Given the description of an element on the screen output the (x, y) to click on. 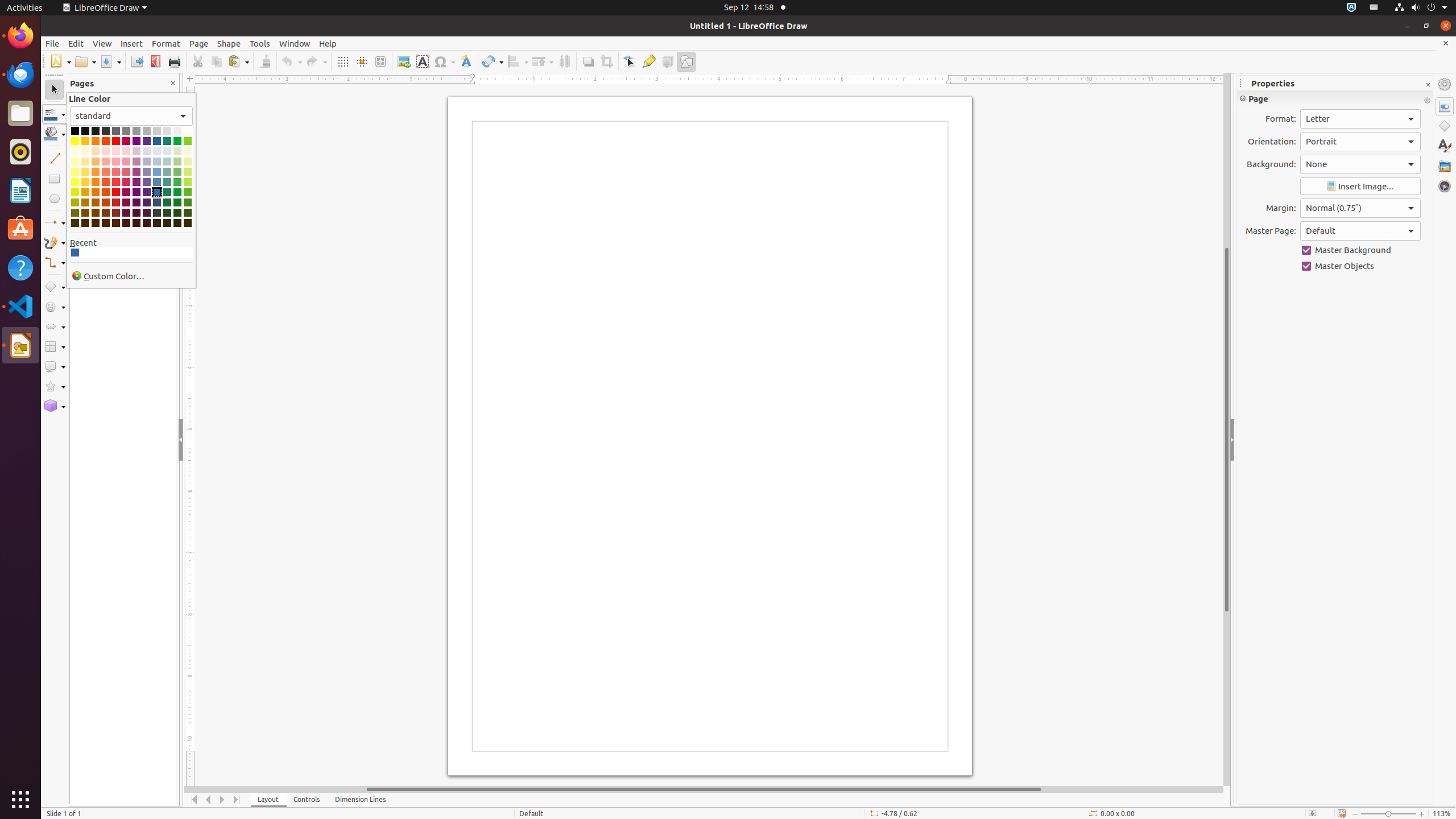
Symbol Shapes Element type: push-button (54, 306)
Dark Brick 4 Element type: list-item (105, 222)
LibreOffice Draw Element type: push-button (20, 344)
New Element type: push-button (59, 61)
Background: Element type: combo-box (1360, 164)
